Given the description of an element on the screen output the (x, y) to click on. 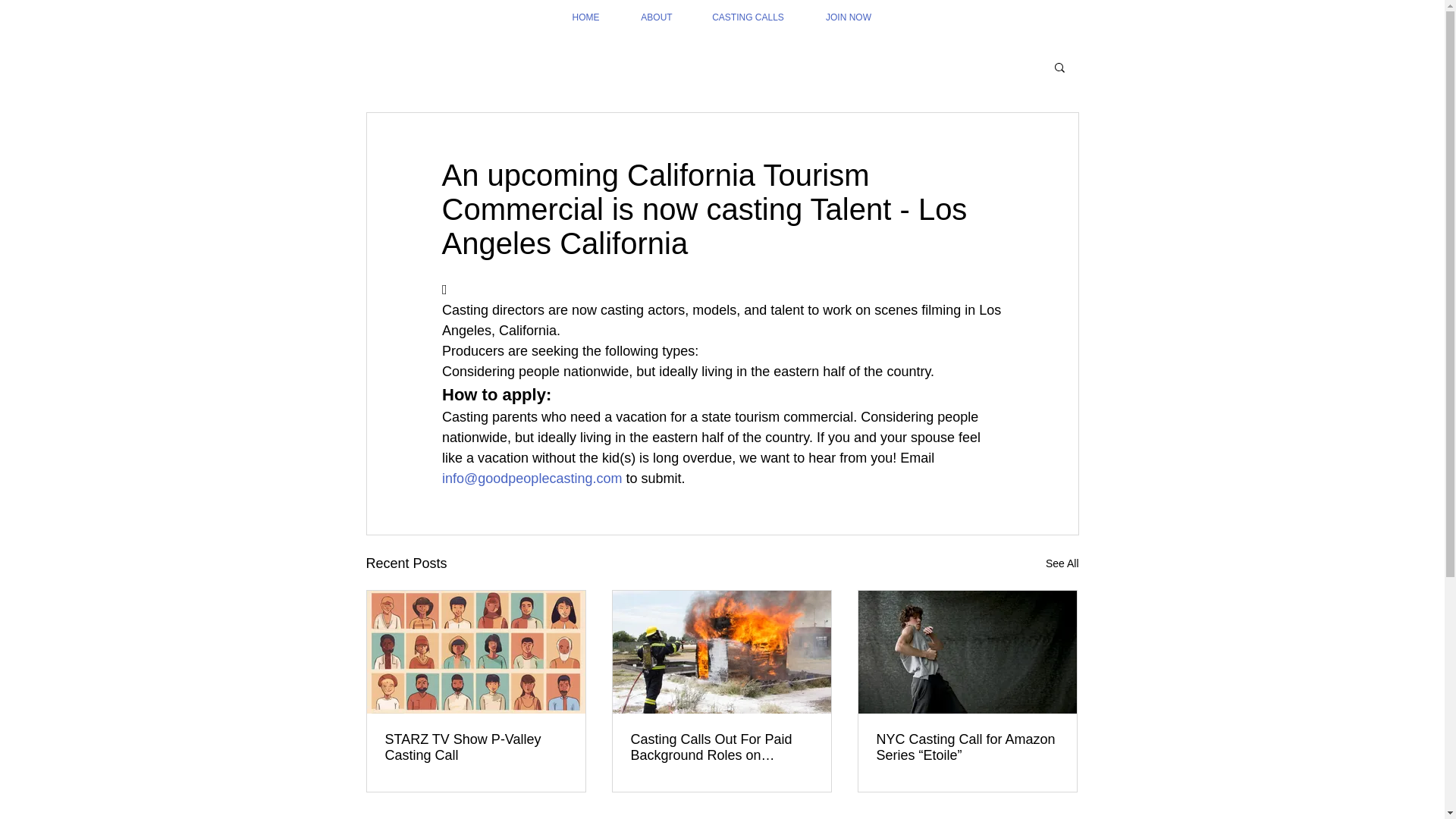
STARZ TV Show P-Valley Casting Call (476, 747)
ABOUT (656, 18)
Casting Calls Out For Paid Background Roles on Chicago Fire (721, 747)
HOME (585, 18)
JOIN NOW (848, 18)
CASTING CALLS (748, 18)
Log In (1021, 57)
See All (1061, 563)
